Given the description of an element on the screen output the (x, y) to click on. 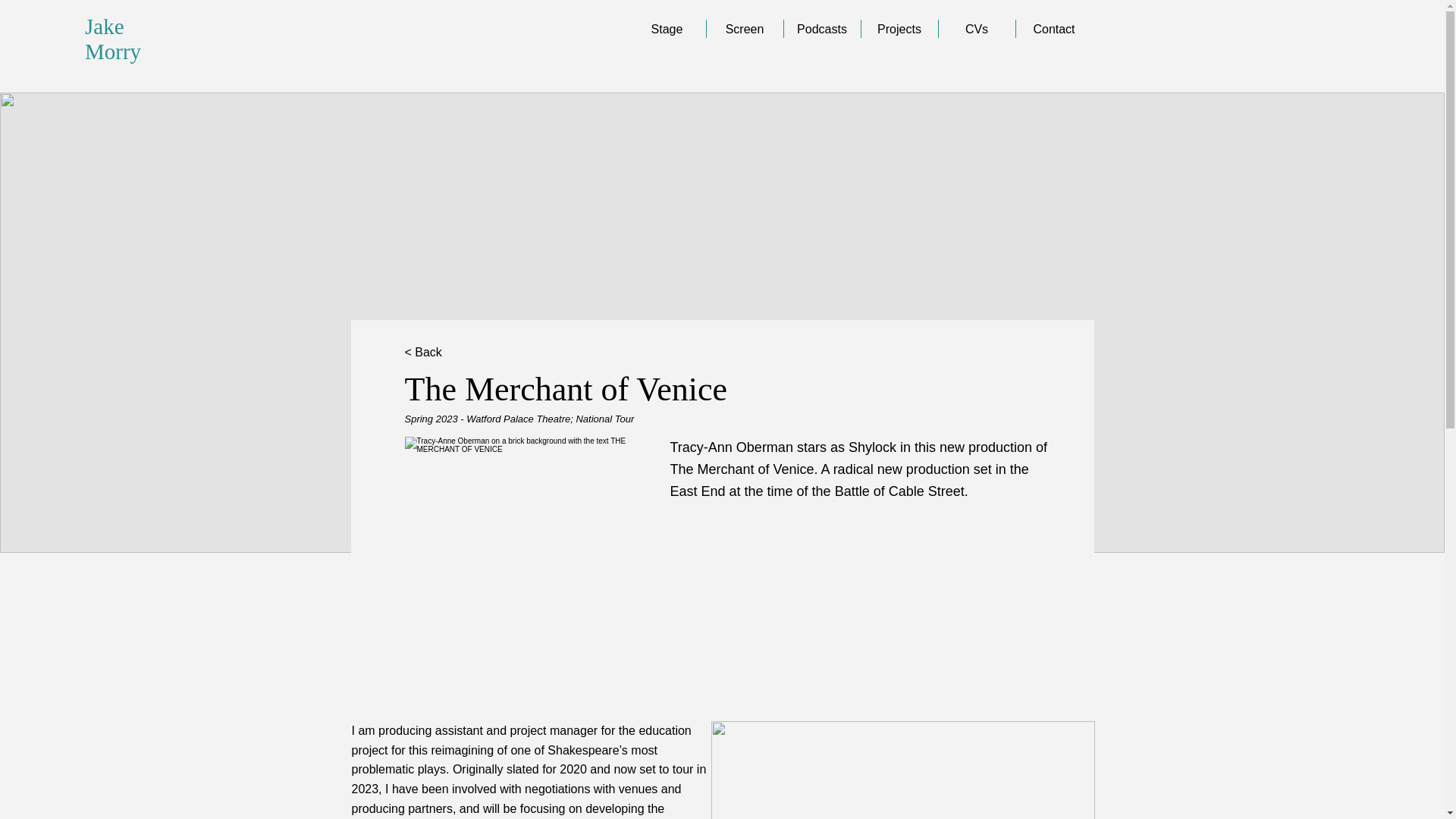
Stage (665, 28)
Screen (744, 28)
Projects (899, 28)
Contact (1054, 28)
Jake Morry (112, 38)
MoV Insta.png (525, 557)
Podcasts (822, 28)
